Given the description of an element on the screen output the (x, y) to click on. 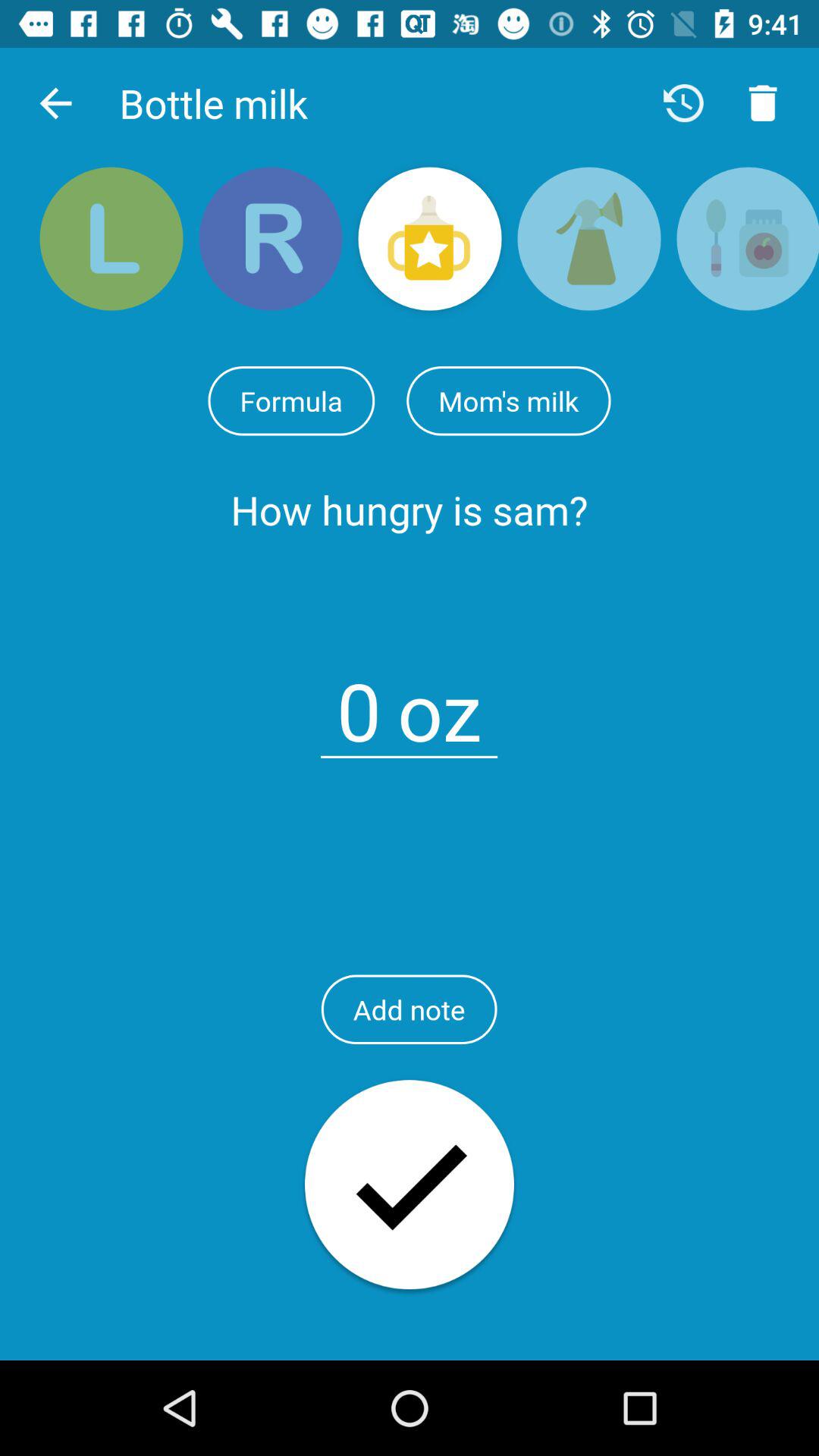
swipe until mom's milk item (508, 400)
